Given the description of an element on the screen output the (x, y) to click on. 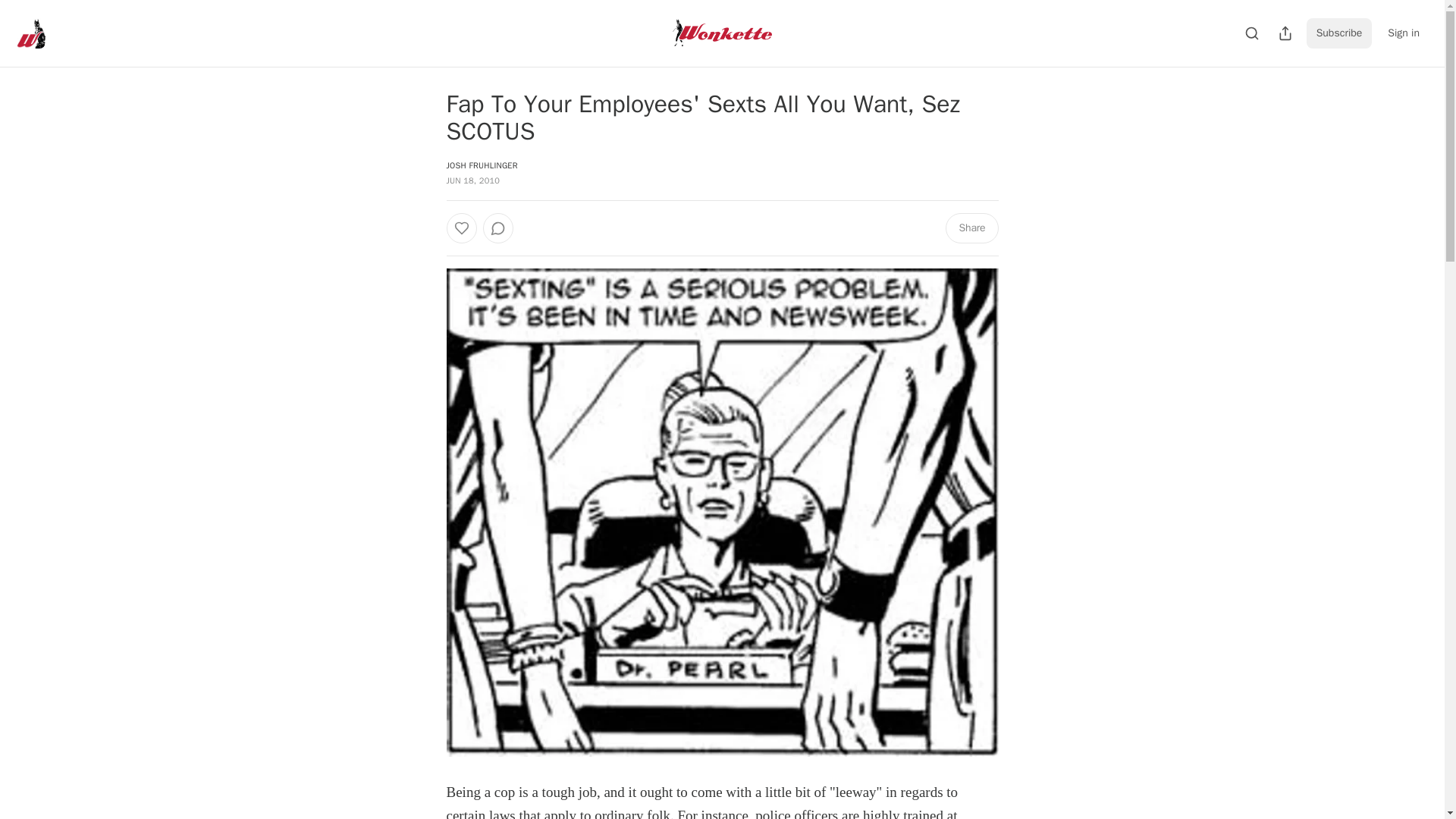
JOSH FRUHLINGER (480, 164)
Share (970, 227)
Sign in (1403, 33)
Subscribe (1339, 33)
